Given the description of an element on the screen output the (x, y) to click on. 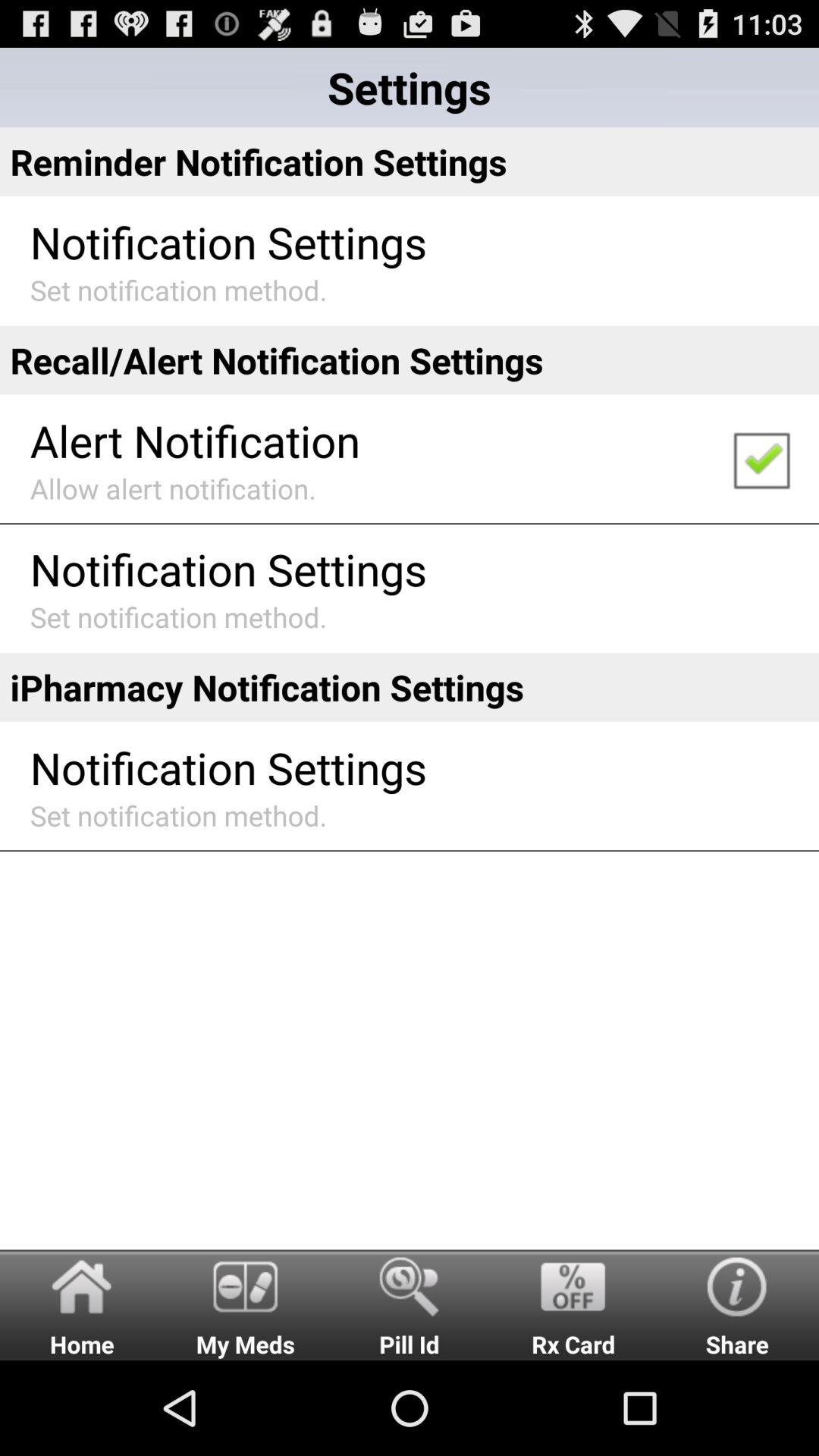
tap the icon below the set notification method. (81, 1304)
